Given the description of an element on the screen output the (x, y) to click on. 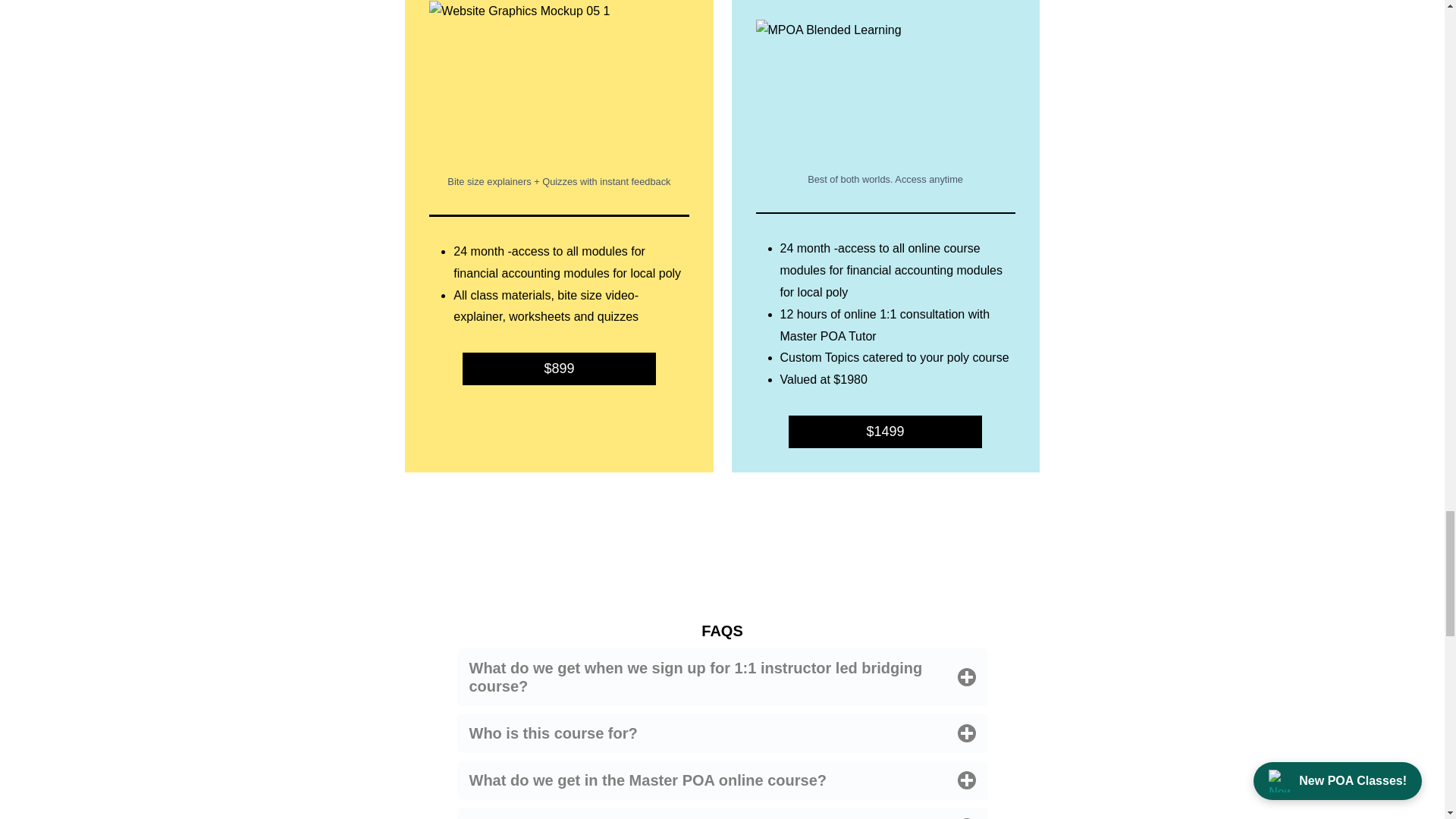
Who is this course for? (722, 732)
